Given the description of an element on the screen output the (x, y) to click on. 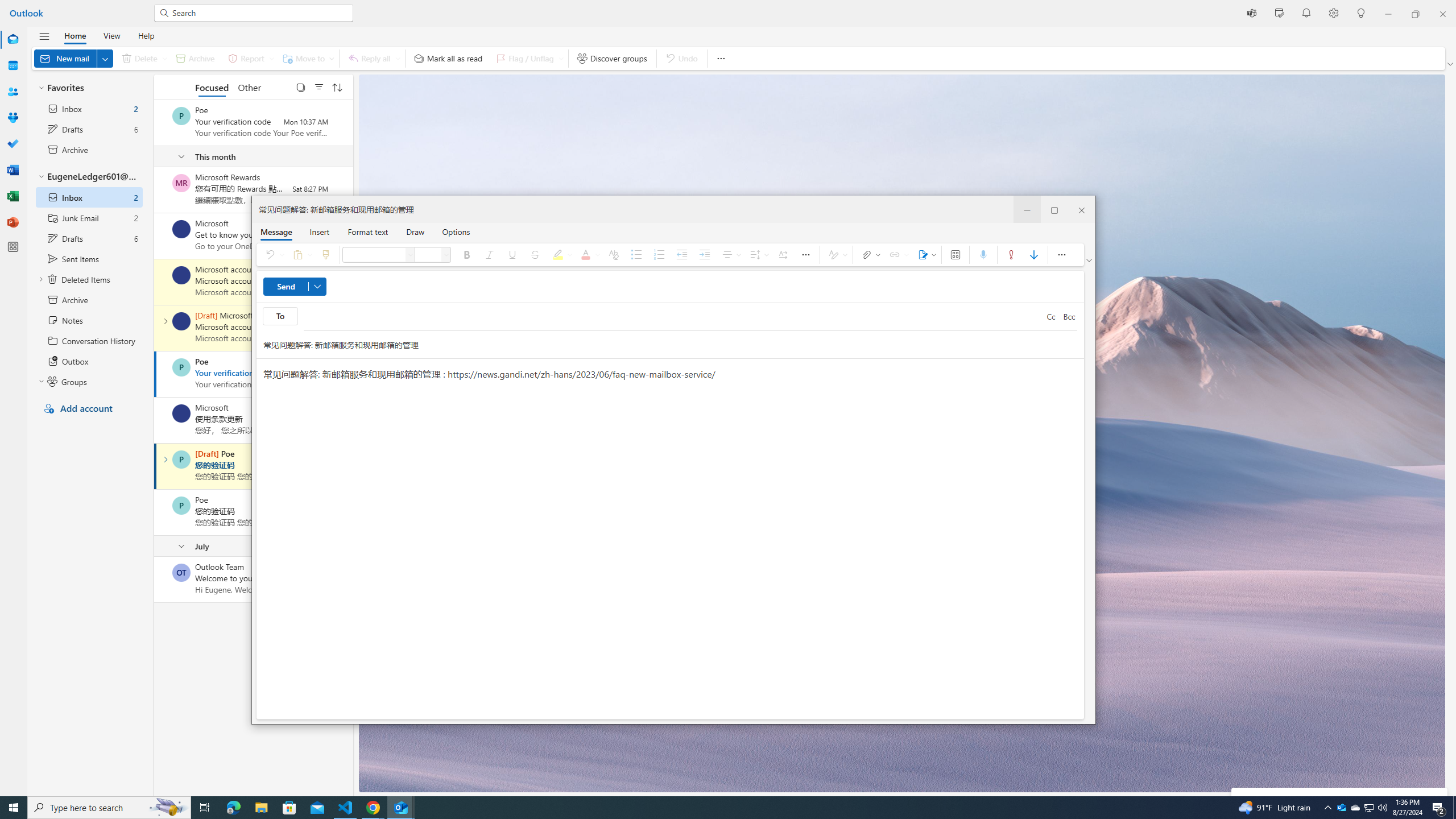
Low importance (1033, 254)
Visual Studio Code - 1 running window (345, 807)
Microsoft account team (180, 321)
Bcc (1068, 316)
Numbering (659, 254)
Focused (212, 86)
User Promoted Notification Area (1368, 807)
Groups (12, 117)
Mark as read (154, 465)
Archive (194, 58)
New mail (73, 58)
Microsoft Outlook (1341, 807)
Expand to see flag options (561, 58)
Mark all as read (448, 58)
People (12, 92)
